Given the description of an element on the screen output the (x, y) to click on. 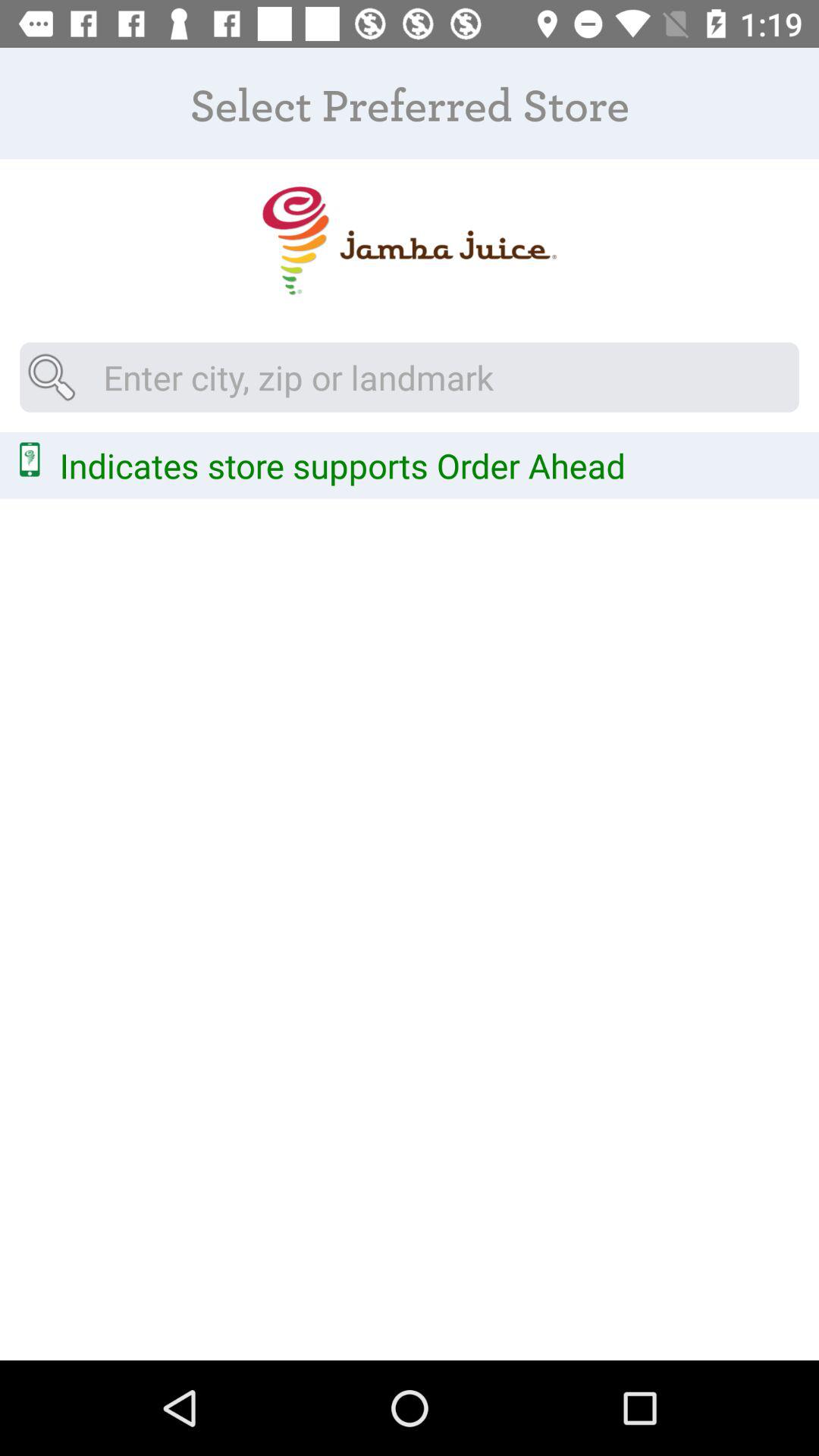
click the item below select preferred store (408, 240)
